Given the description of an element on the screen output the (x, y) to click on. 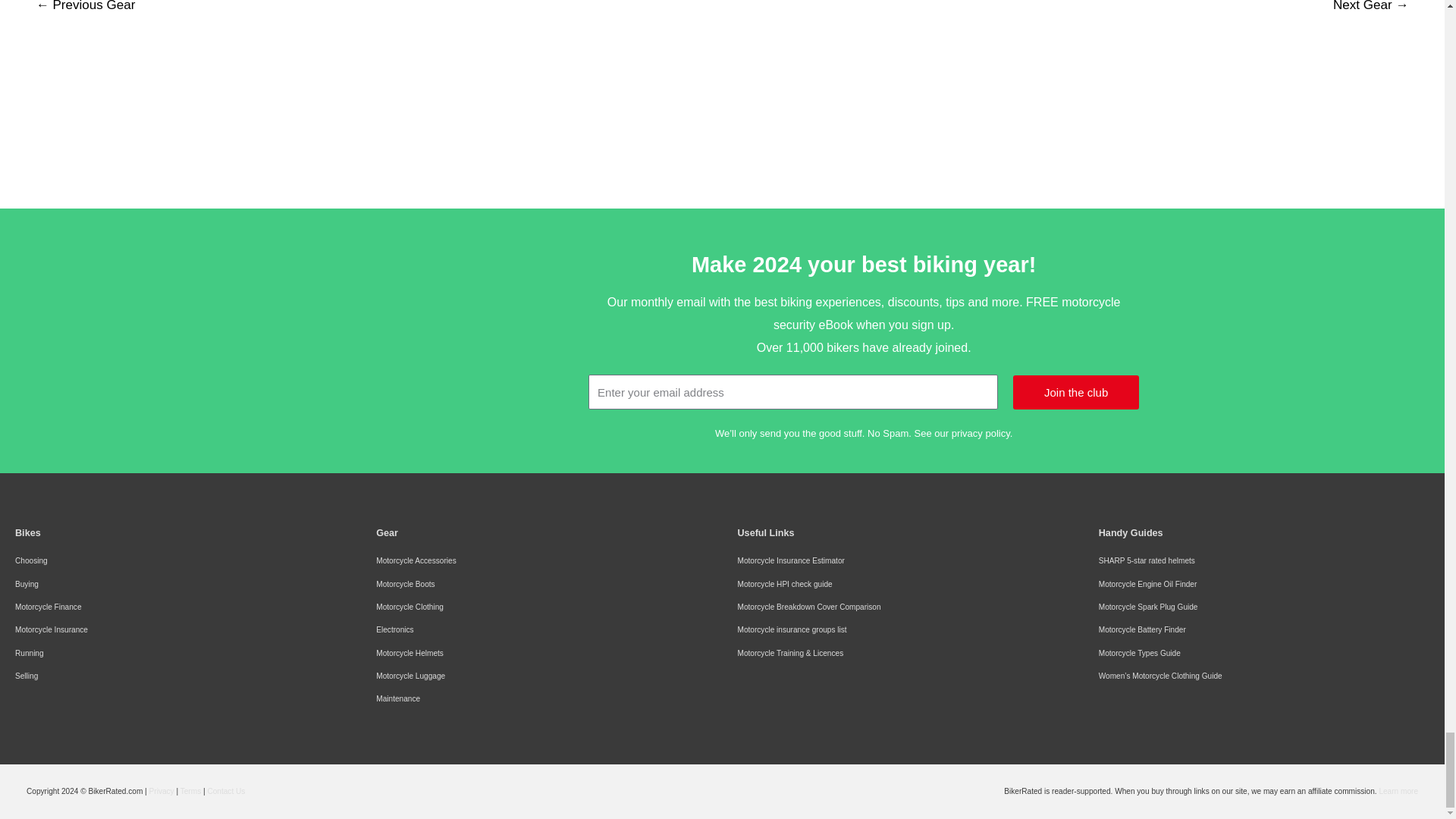
Easy Motorcycle Cleaning and Polishing Guide (438, 314)
